Given the description of an element on the screen output the (x, y) to click on. 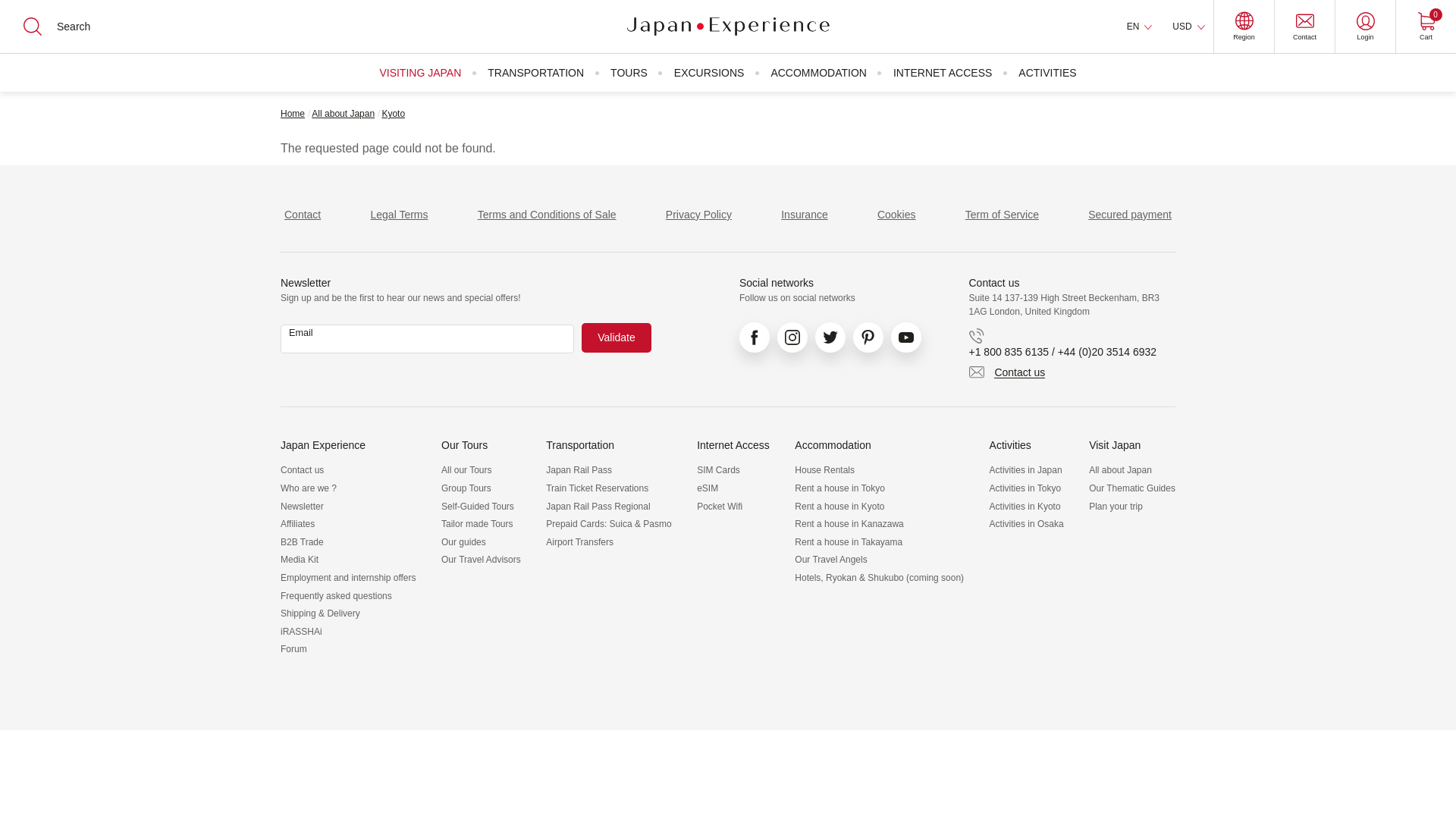
Login (1364, 26)
Contact (1304, 26)
USD (1187, 26)
Search (23, 12)
Search (23, 12)
EN (1139, 26)
TRANSPORTATION (535, 72)
Region (1243, 26)
Validate (615, 337)
VISITING JAPAN (419, 72)
